Given the description of an element on the screen output the (x, y) to click on. 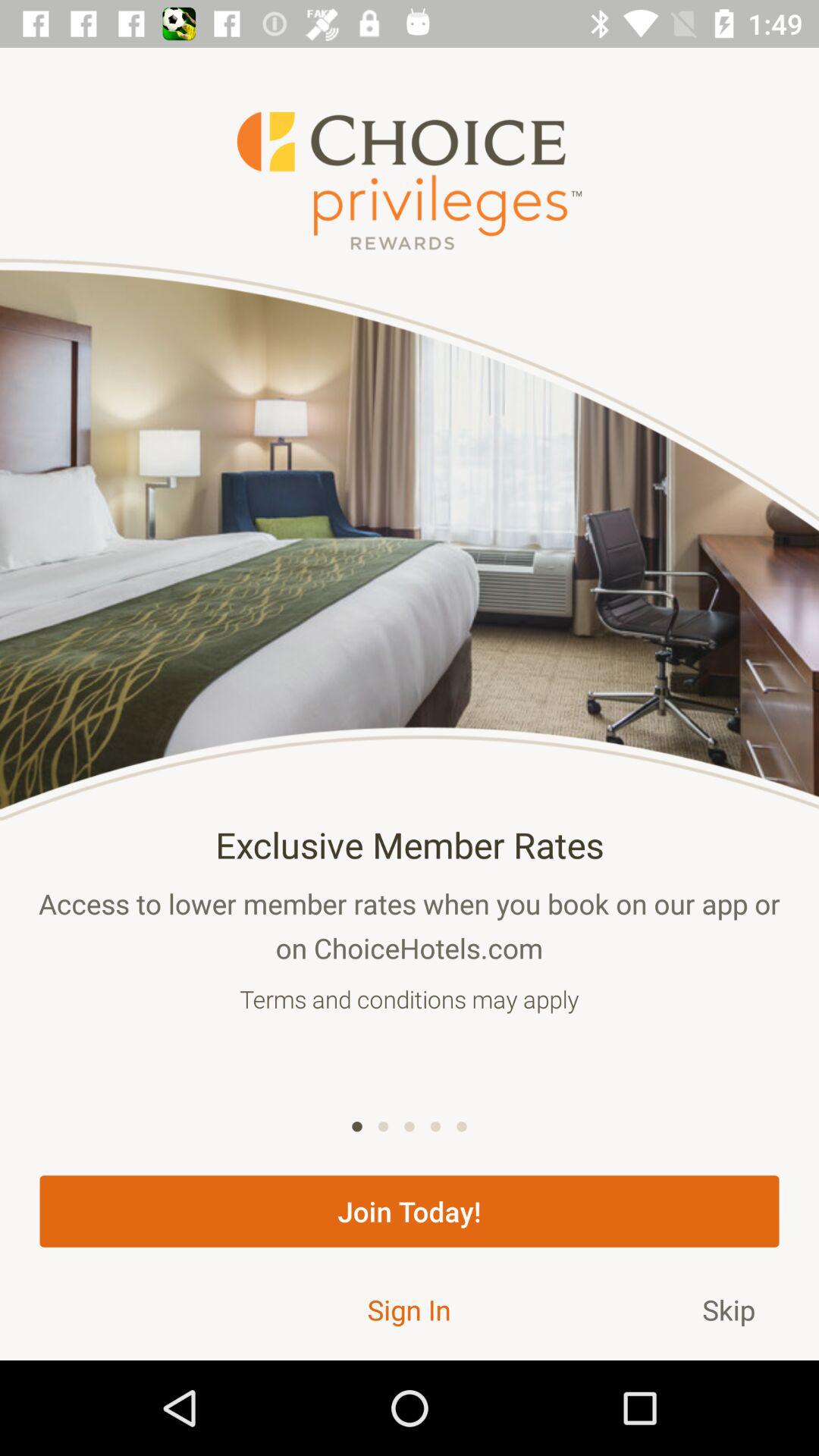
press the skip at the bottom right corner (728, 1309)
